Given the description of an element on the screen output the (x, y) to click on. 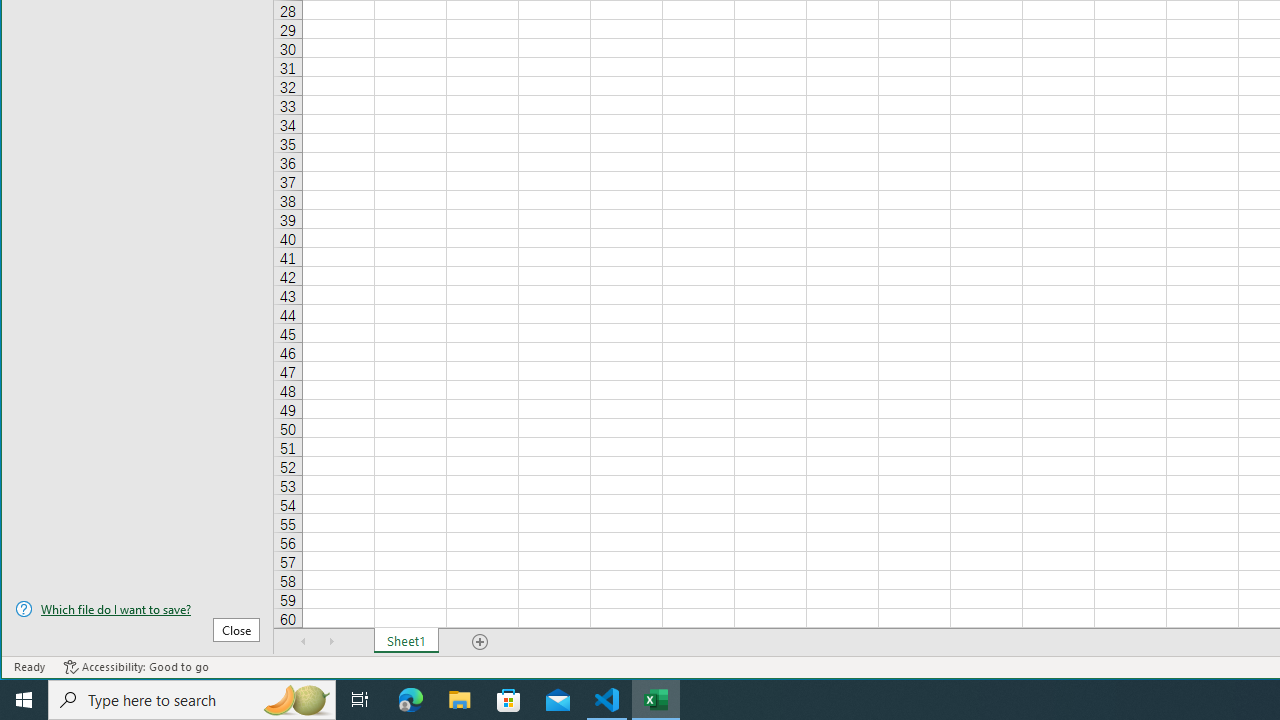
Start (24, 699)
